Given the description of an element on the screen output the (x, y) to click on. 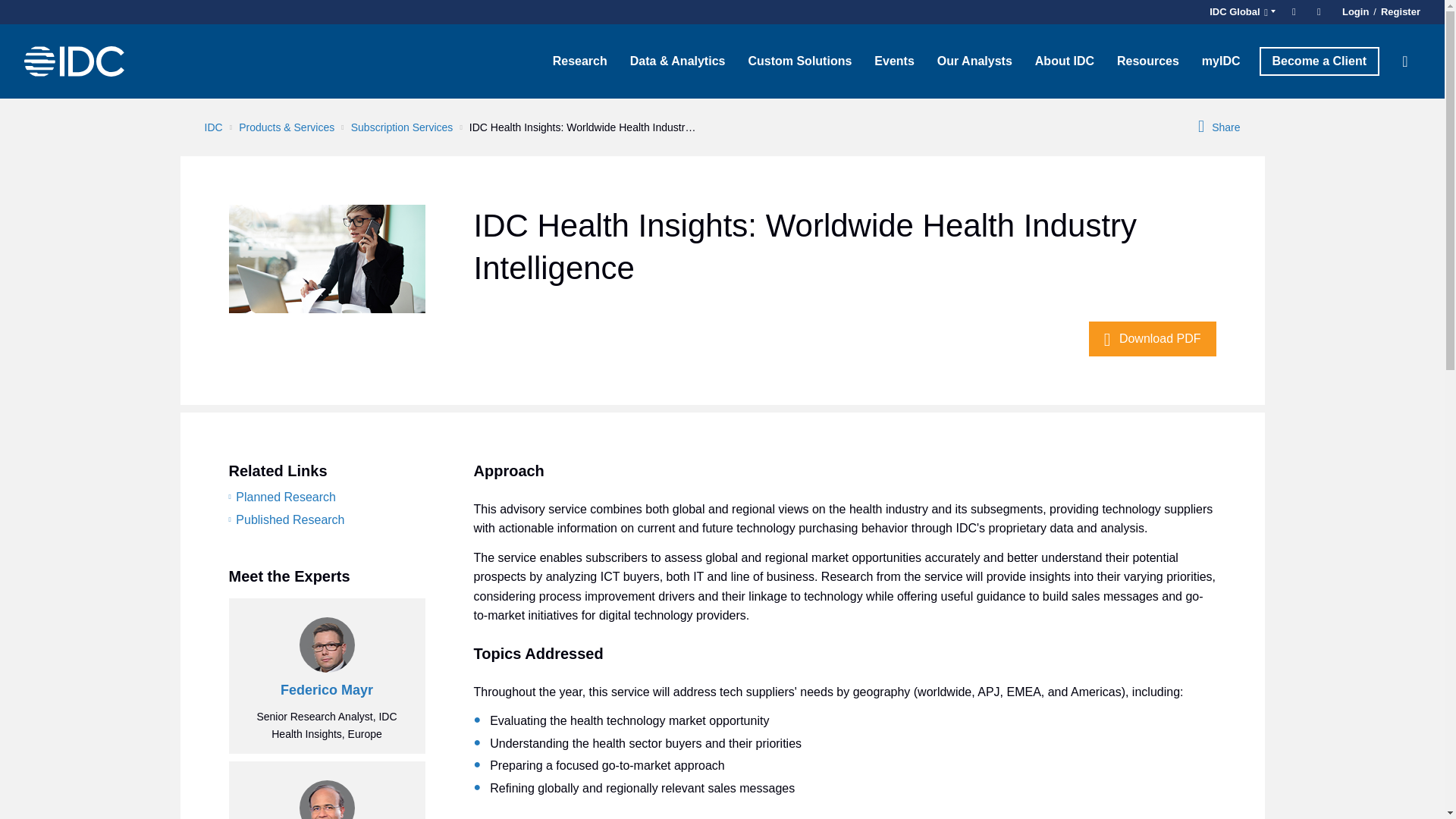
Our Analysts (974, 60)
Research (579, 60)
Events (893, 60)
Search (1405, 61)
myIDC (1221, 60)
Become a Client (1318, 60)
Resources (1148, 60)
About IDC (1064, 60)
Register (1398, 12)
IDC Global (1240, 12)
Custom Solutions (799, 60)
Login (1355, 12)
